Given the description of an element on the screen output the (x, y) to click on. 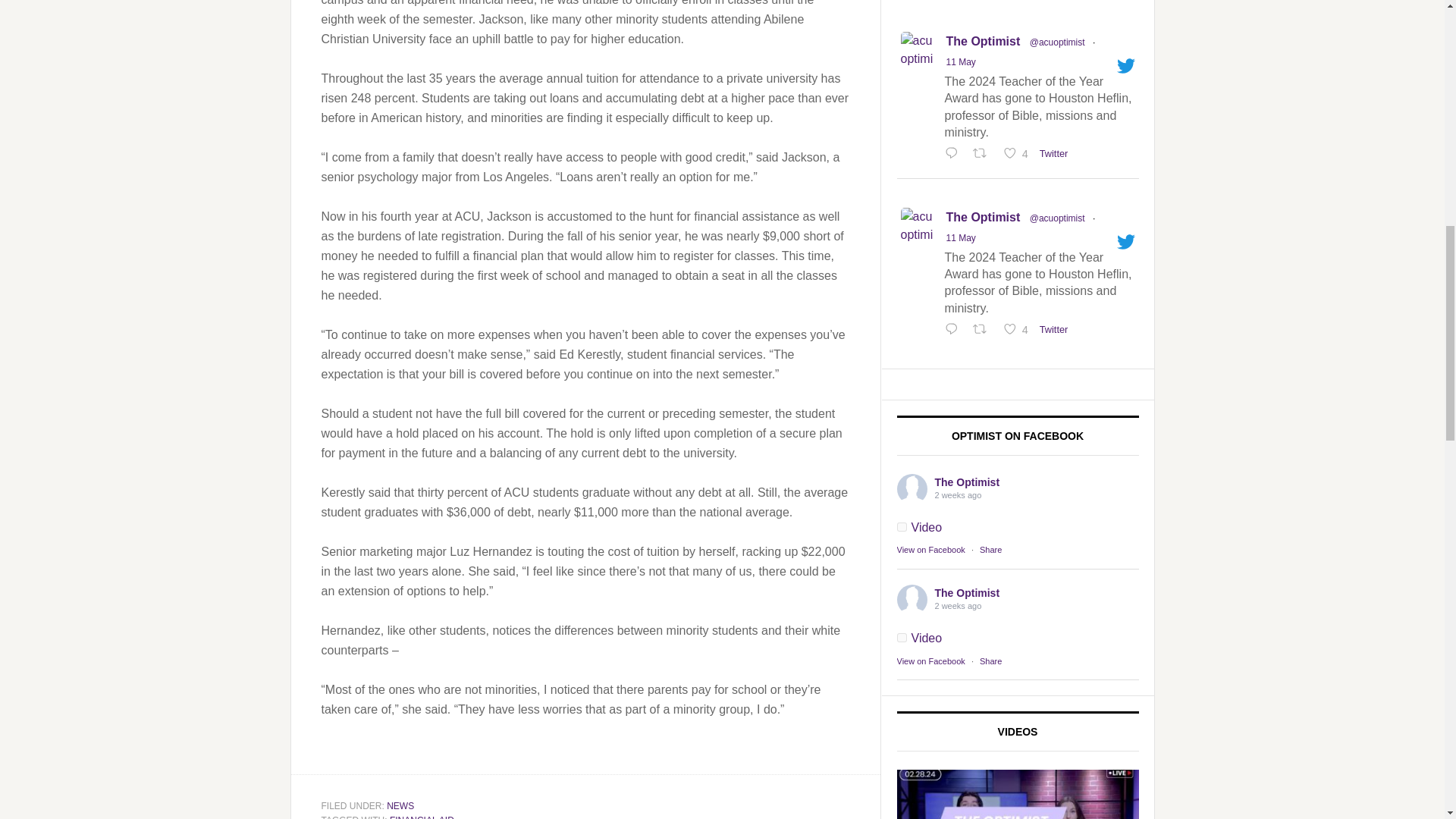
Share (990, 660)
View on Facebook (929, 660)
View on Facebook (929, 549)
FINANCIAL AID (422, 816)
Share (990, 549)
NEWS (400, 805)
